Given the description of an element on the screen output the (x, y) to click on. 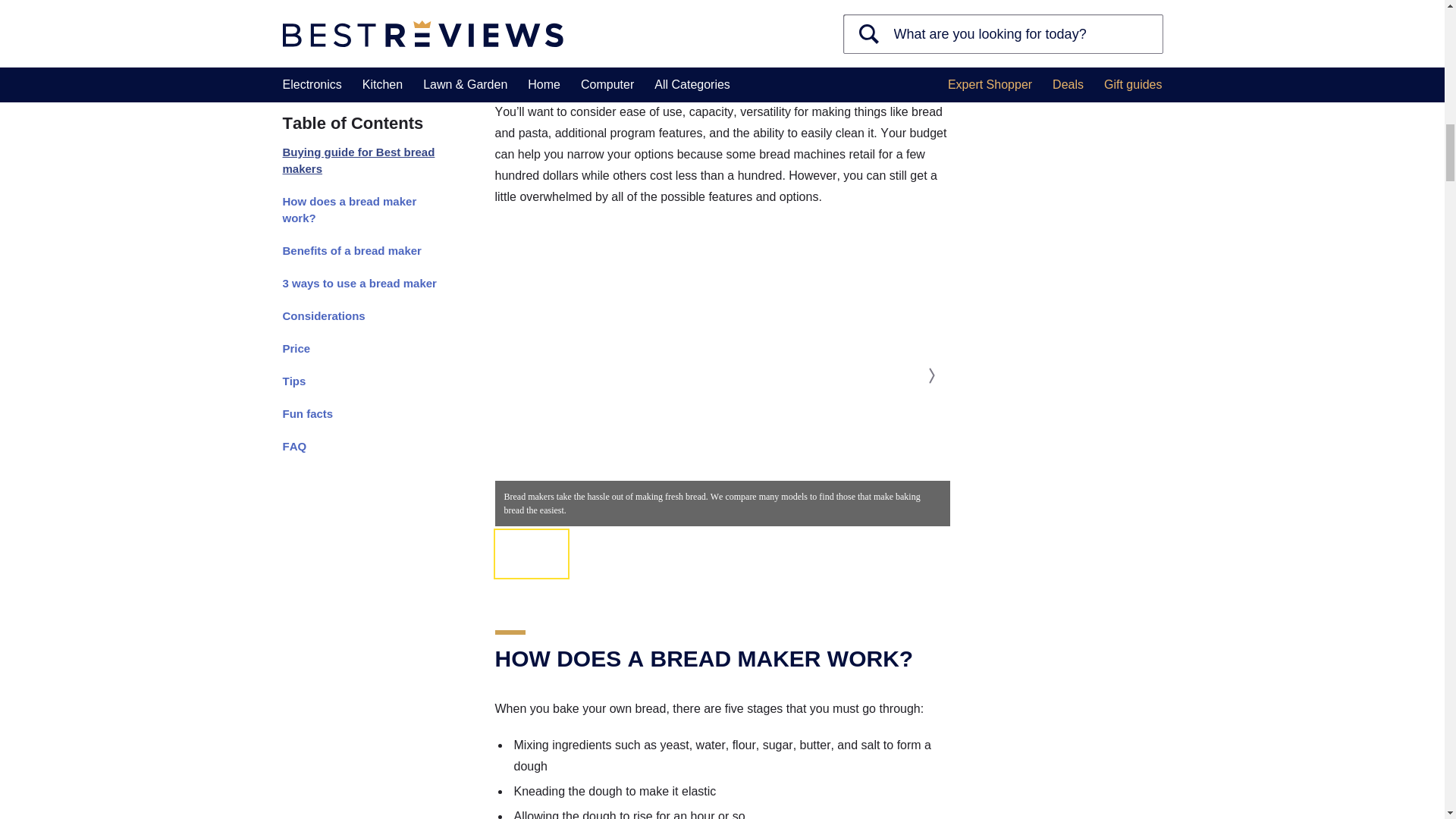
FAQ (361, 194)
Benefits of a bread maker (361, 6)
Considerations (361, 62)
Price (361, 95)
Tips (361, 128)
Fun facts (361, 161)
3 ways to use a bread maker (361, 31)
